Given the description of an element on the screen output the (x, y) to click on. 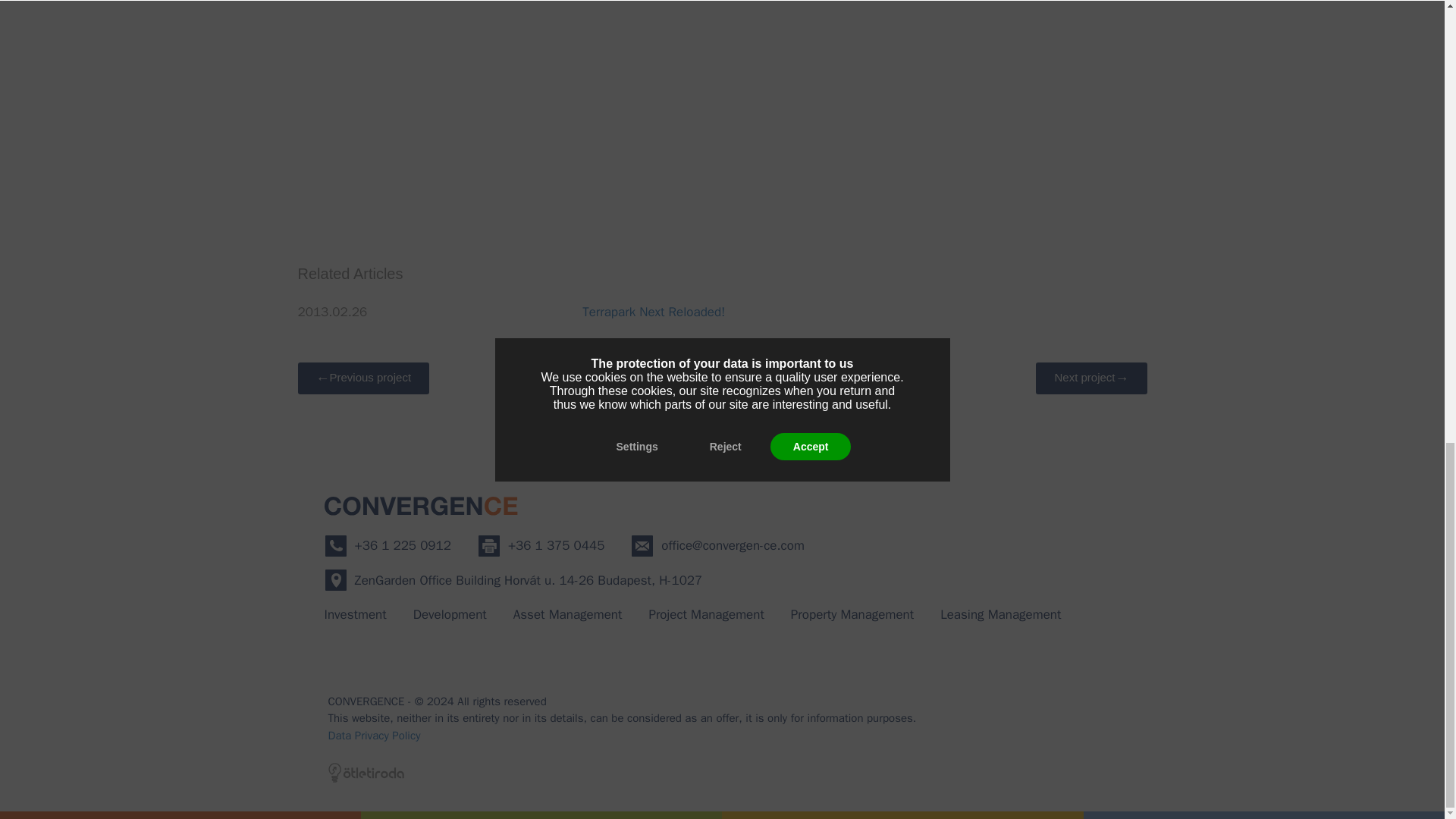
Project Management (704, 614)
Investment (355, 614)
Development (449, 614)
Previous project (363, 377)
Data Privacy Policy (721, 734)
Terrapark Next Reloaded! (653, 311)
Leasing Management (1000, 614)
Property Management (852, 614)
Next project (1091, 377)
Asset Management (568, 614)
